Given the description of an element on the screen output the (x, y) to click on. 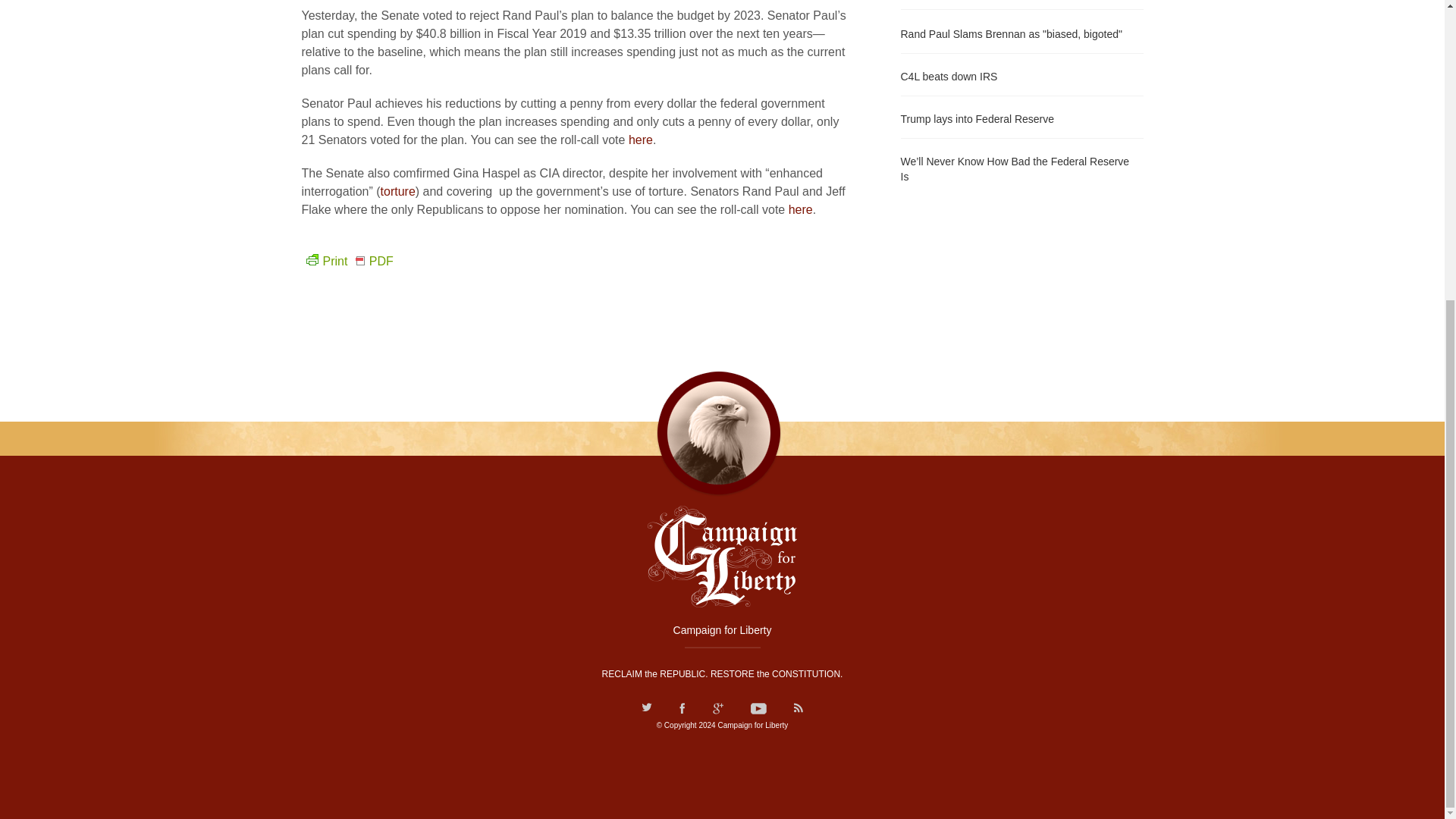
here (800, 209)
Print PDF (347, 260)
Printer Friendly and PDF (347, 260)
Rand Paul Slams Brennan as "biased, bigoted" (1021, 32)
here (640, 139)
C4L beats down IRS (1021, 75)
Trump lays into Federal Reserve (1021, 117)
torture (397, 191)
